Given the description of an element on the screen output the (x, y) to click on. 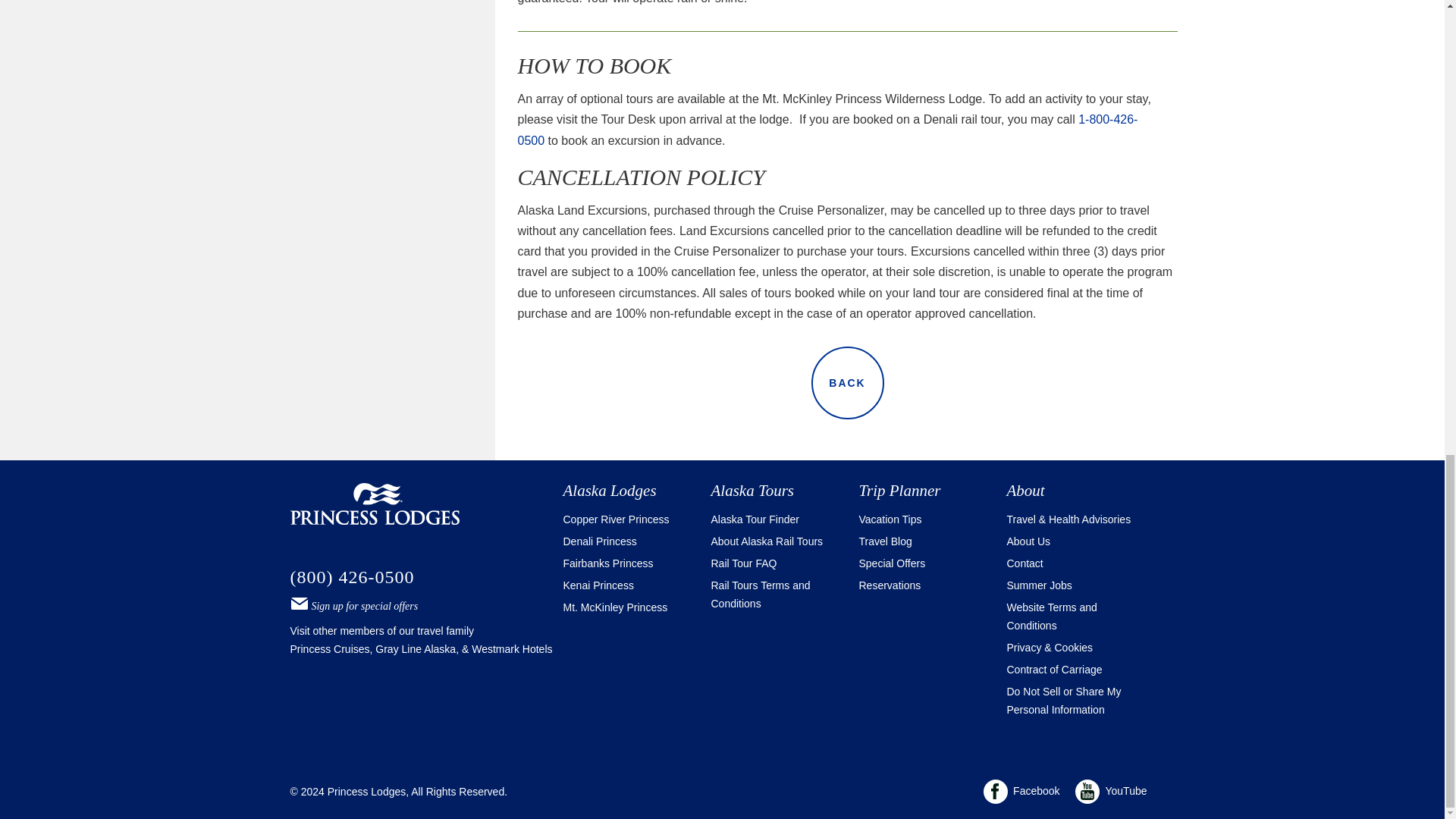
Call us today! (351, 577)
Link to Princess Lodges on You Tube (1112, 791)
email (298, 601)
Link to Princess Lodges on Facebook (1022, 791)
